Given the description of an element on the screen output the (x, y) to click on. 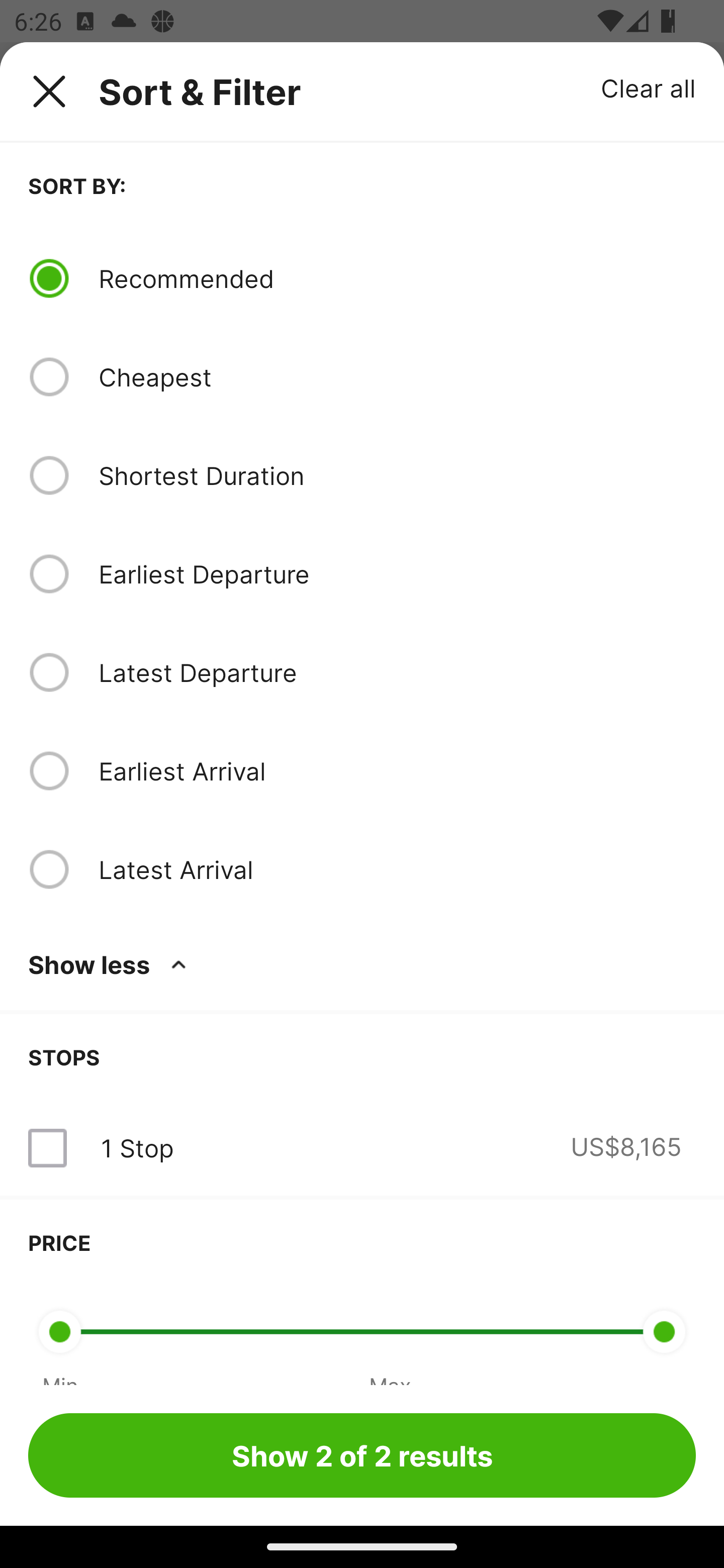
Clear all (648, 87)
Recommended  (396, 278)
Cheapest (396, 377)
Shortest Duration (396, 474)
Earliest Departure (396, 573)
Latest Departure (396, 672)
Earliest Arrival (396, 770)
Latest Arrival (396, 869)
Show less (110, 964)
1 Stop US$8,165 (362, 1147)
1 Stop (136, 1147)
Show 2 of 2 results (361, 1454)
